Given the description of an element on the screen output the (x, y) to click on. 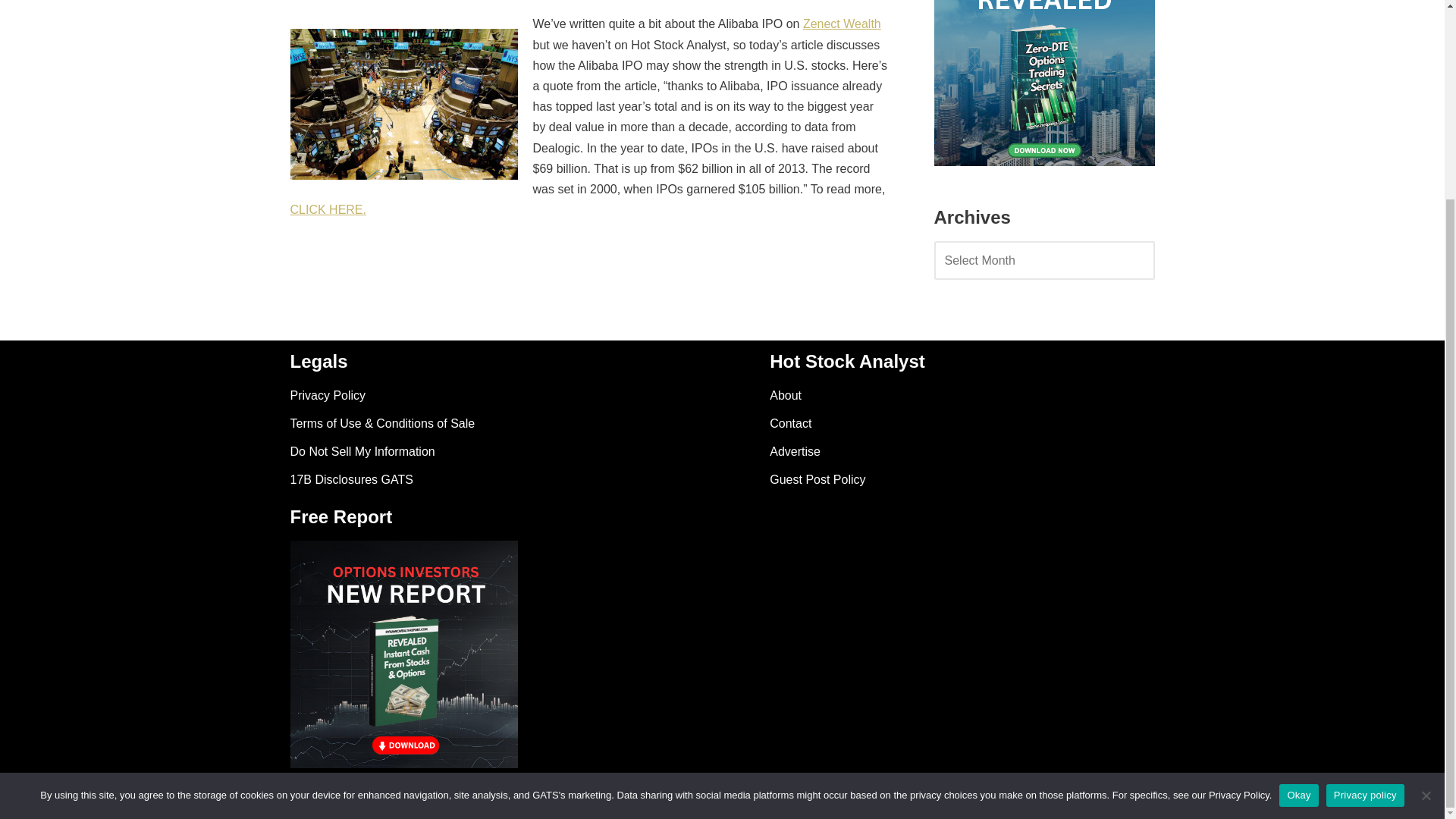
Neve (303, 799)
Advertise (795, 451)
Do Not Sell My Information (361, 451)
No (1425, 541)
Contact (790, 422)
Privacy Policy (327, 395)
WordPress (425, 799)
CLICK HERE. (327, 209)
Free Report (402, 654)
Guest Post Policy (817, 479)
